Given the description of an element on the screen output the (x, y) to click on. 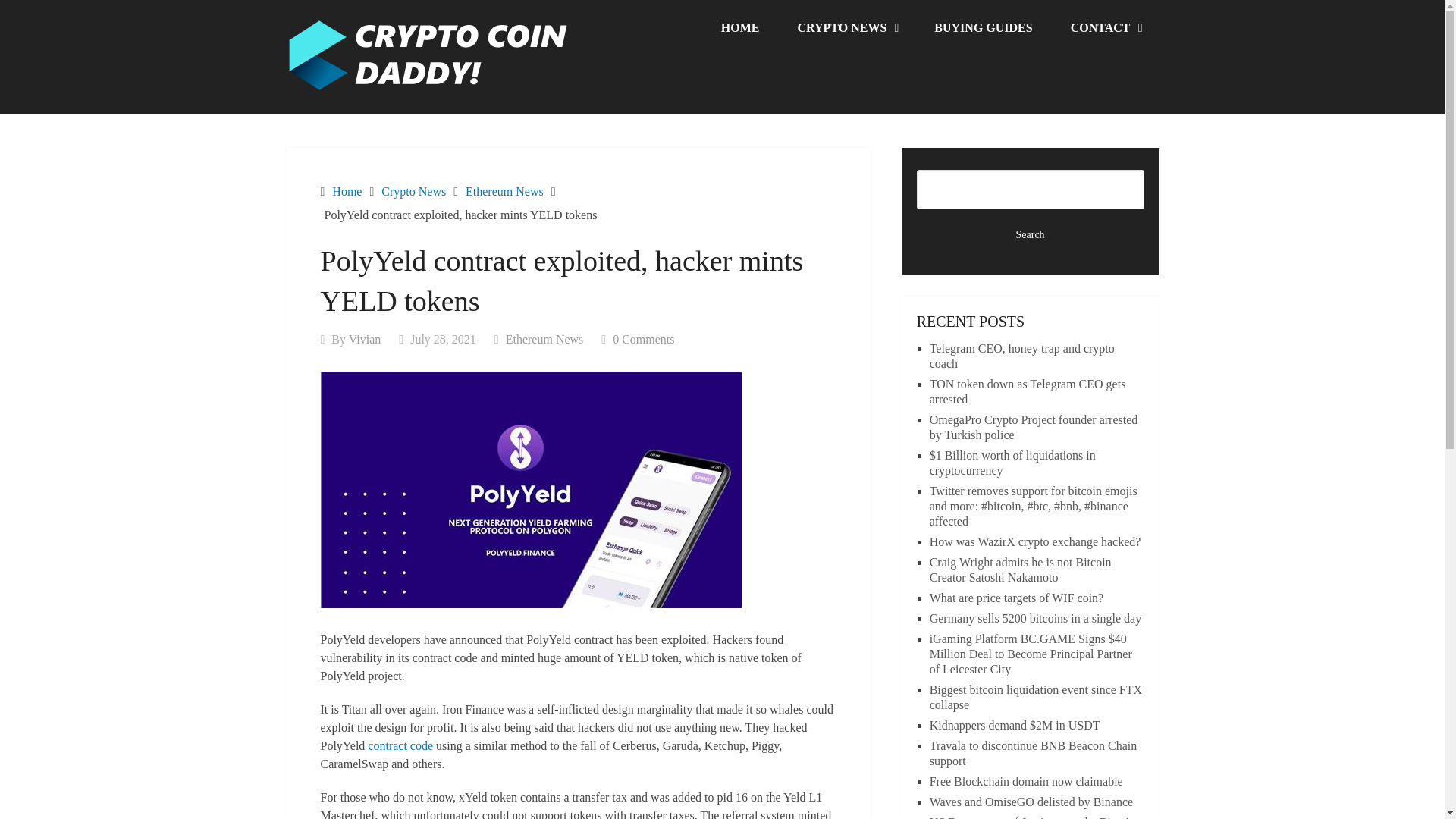
Posts by Vivian (365, 338)
CONTACT (1104, 28)
Free Blockchain domain now claimable (1026, 780)
BUYING GUIDES (983, 28)
0 Comments (643, 338)
Vivian (365, 338)
Telegram CEO, honey trap and crypto coach (1022, 356)
OmegaPro Crypto Project founder arrested by Turkish police (1034, 427)
Ethereum News (544, 338)
